Given the description of an element on the screen output the (x, y) to click on. 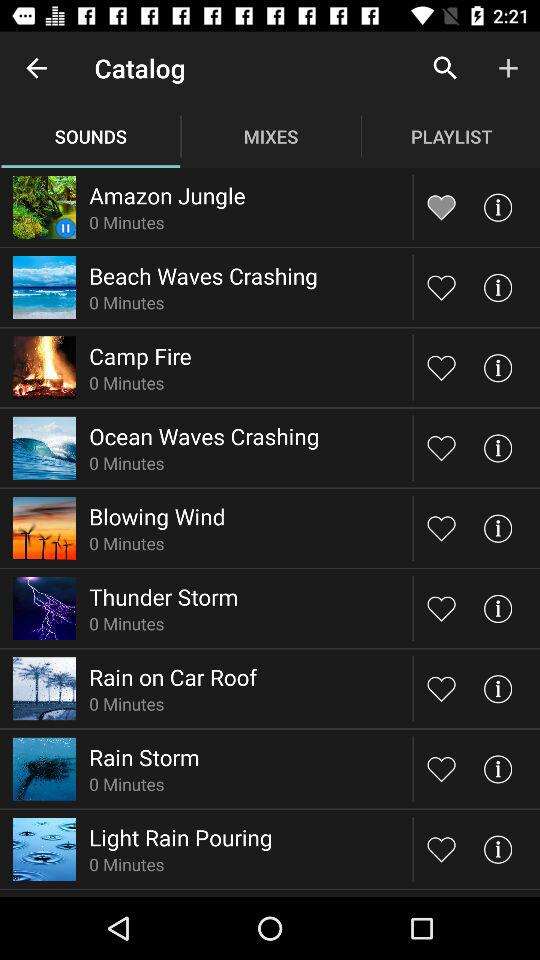
favorite this item (441, 688)
